Given the description of an element on the screen output the (x, y) to click on. 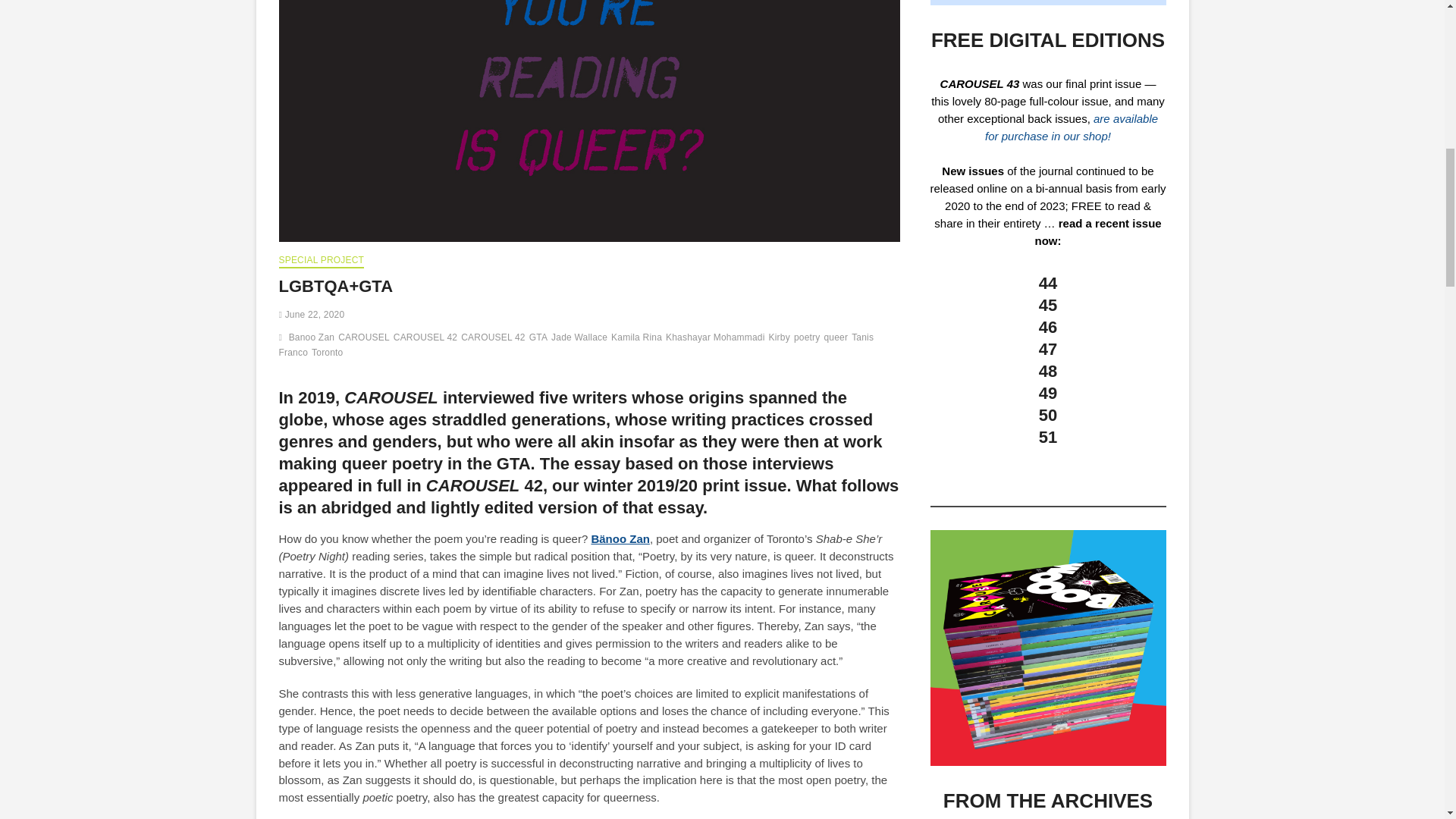
Khashayar Mohammadi (716, 339)
June 22, 2020 (312, 314)
June 22, 2020 (312, 314)
Jade Wallace (581, 339)
Tanis Franco (577, 346)
queer (837, 339)
Kirby (780, 339)
SPECIAL PROJECT (322, 261)
GTA (540, 339)
CAROUSEL 42 (427, 339)
Toronto (328, 354)
Banoo Zan (313, 339)
CAROUSEL (365, 339)
Kamila Rina (638, 339)
CAROUSEL 42 (494, 339)
